Given the description of an element on the screen output the (x, y) to click on. 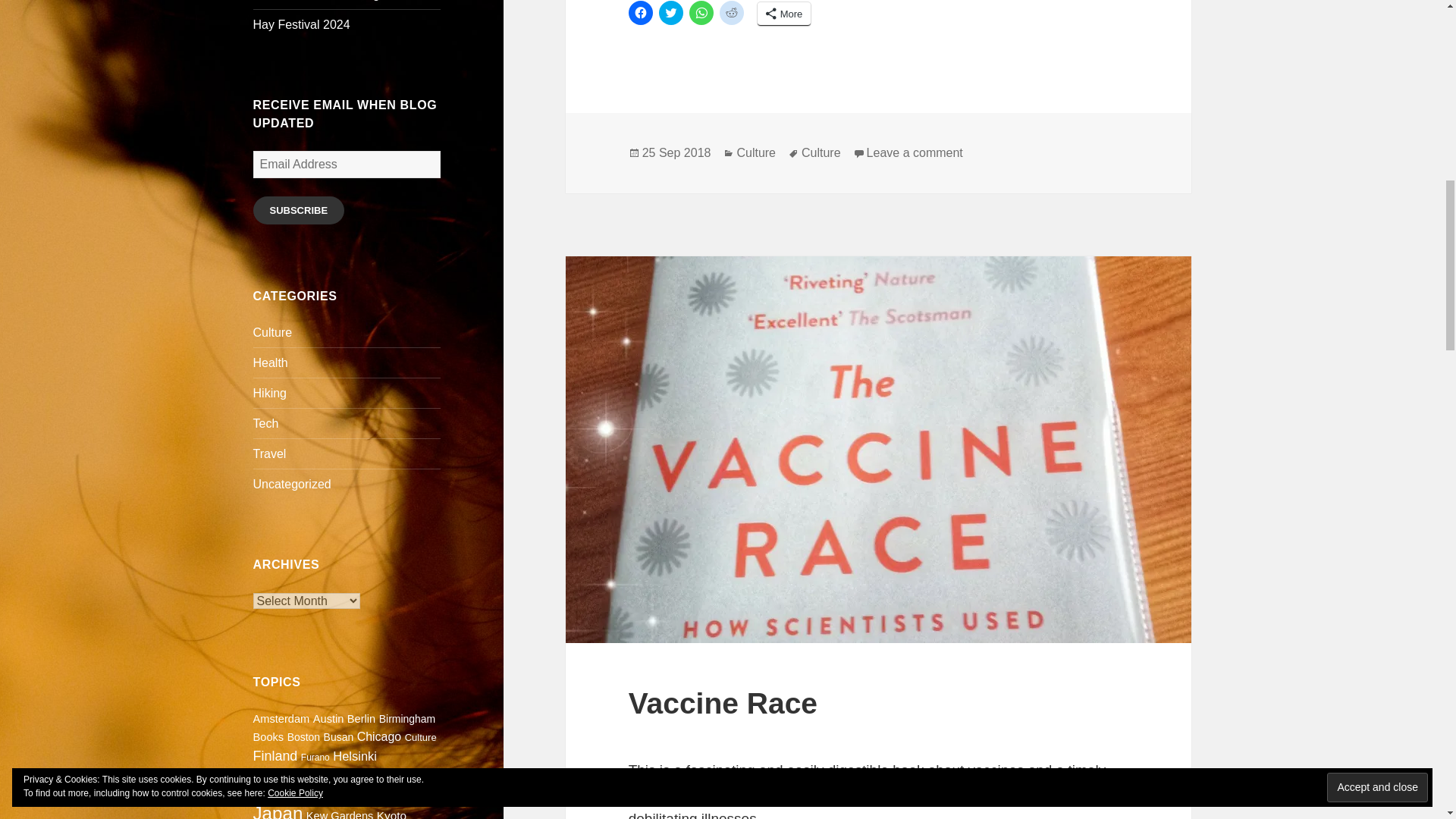
Hay Festival 2024 (301, 24)
Austin (328, 718)
Click to share on Twitter (670, 12)
Furano (315, 757)
Chicago (378, 736)
Culture (420, 737)
Boston (303, 736)
Busan (338, 736)
Click to share on Reddit (731, 12)
Hiking (269, 392)
